Given the description of an element on the screen output the (x, y) to click on. 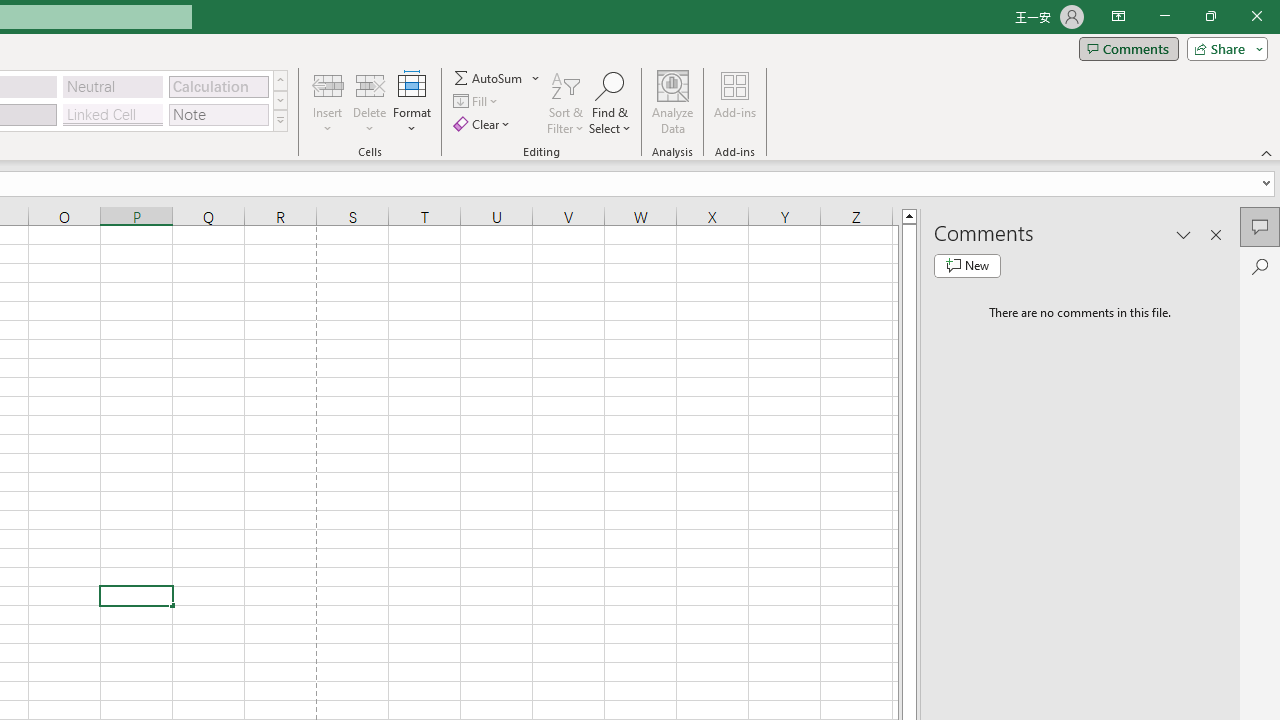
New comment (967, 265)
AutoSum (497, 78)
Format (411, 102)
